Given the description of an element on the screen output the (x, y) to click on. 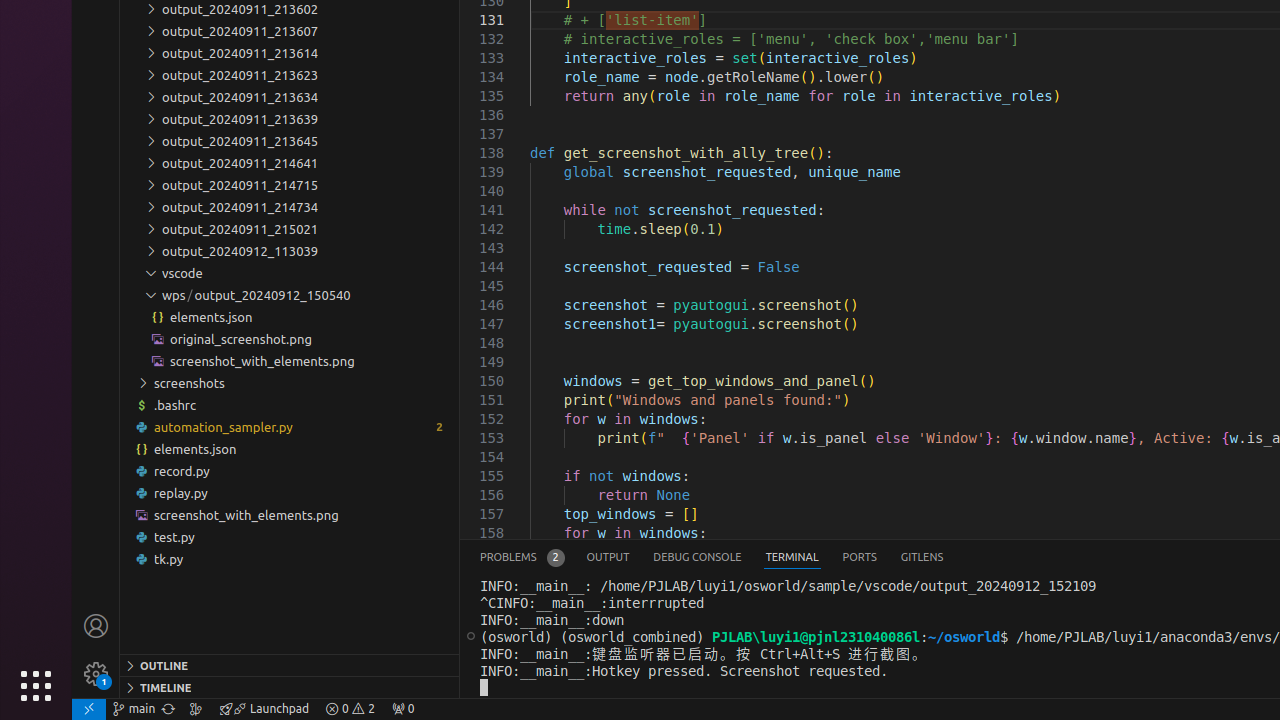
output_20240911_215021 Element type: tree-item (289, 228)
rocket gitlens-unplug Launchpad, GitLens Launchpad ᴘʀᴇᴠɪᴇᴡ    &mdash;    [$(question)](command:gitlens.launchpad.indicator.action?%22info%22 "What is this?") [$(gear)](command:workbench.action.openSettings?%22gitlens.launchpad%22 "Settings")  |  [$(circle-slash) Hide](command:gitlens.launchpad.indicator.action?%22hide%22 "Hide") --- [Launchpad](command:gitlens.launchpad.indicator.action?%info%22 "Learn about Launchpad") organizes your pull requests into actionable groups to help you focus and keep your team unblocked. It's always accessible using the `GitLens: Open Launchpad` command from the Command Palette. --- [Connect an integration](command:gitlens.showLaunchpad?%7B%22source%22%3A%22launchpad-indicator%22%7D "Connect an integration") to get started. Element type: push-button (264, 709)
Timeline Section Element type: push-button (289, 687)
output_20240911_213634 Element type: tree-item (289, 97)
Debug Console (Ctrl+Shift+Y) Element type: page-tab (697, 557)
